Given the description of an element on the screen output the (x, y) to click on. 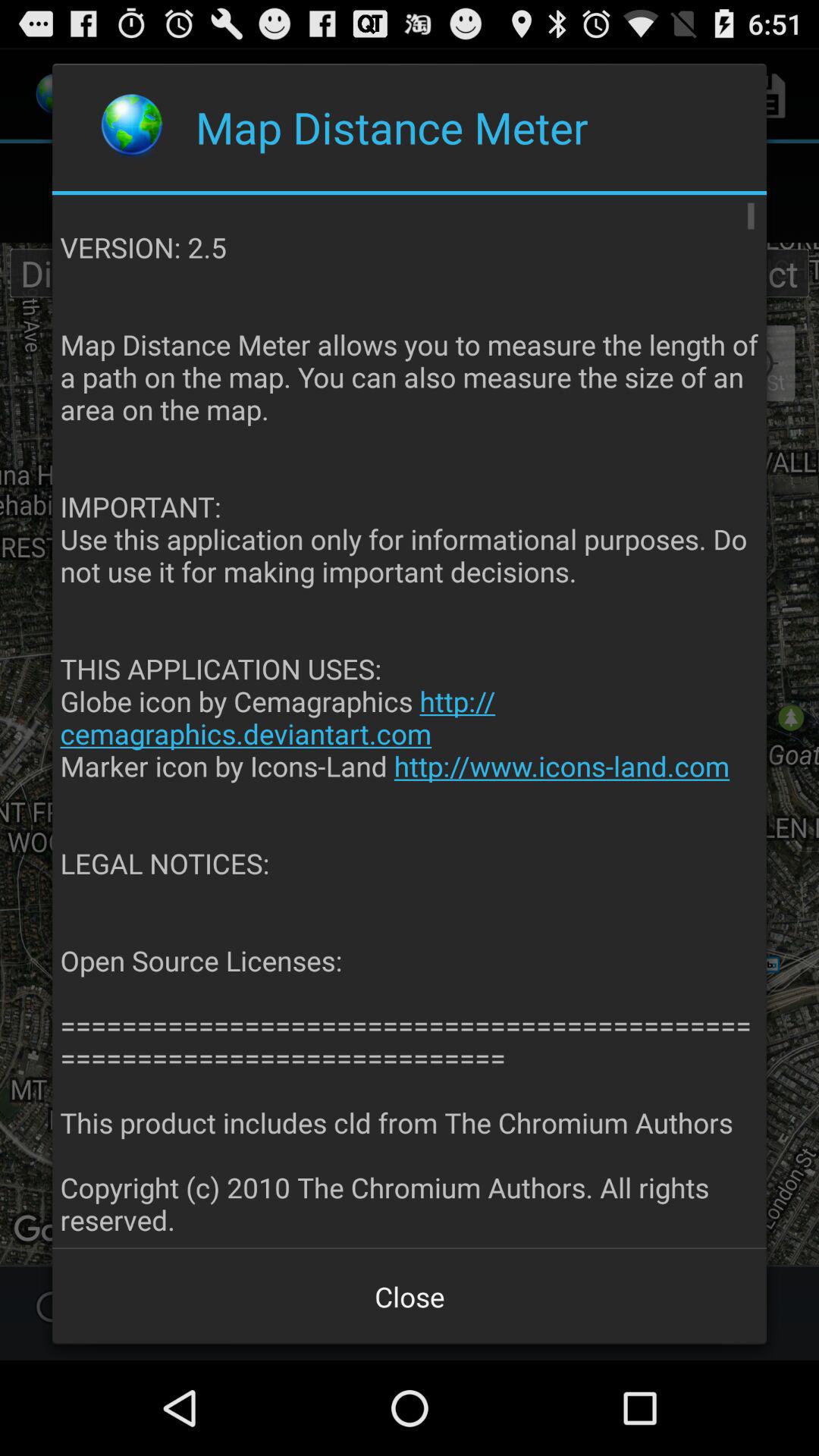
choose version 2 5 app (410, 721)
